Given the description of an element on the screen output the (x, y) to click on. 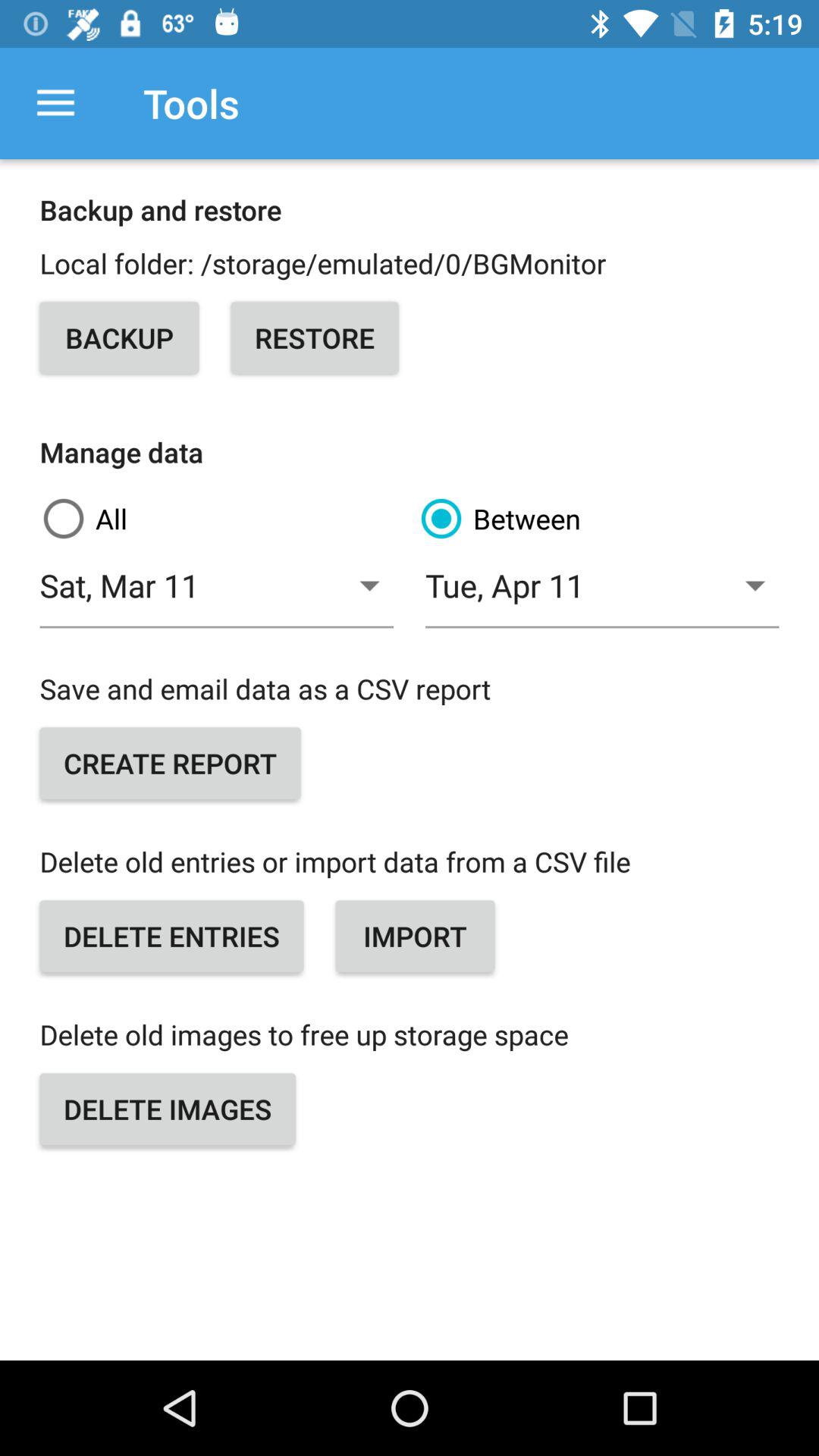
launch the item to the left of the between (220, 518)
